Given the description of an element on the screen output the (x, y) to click on. 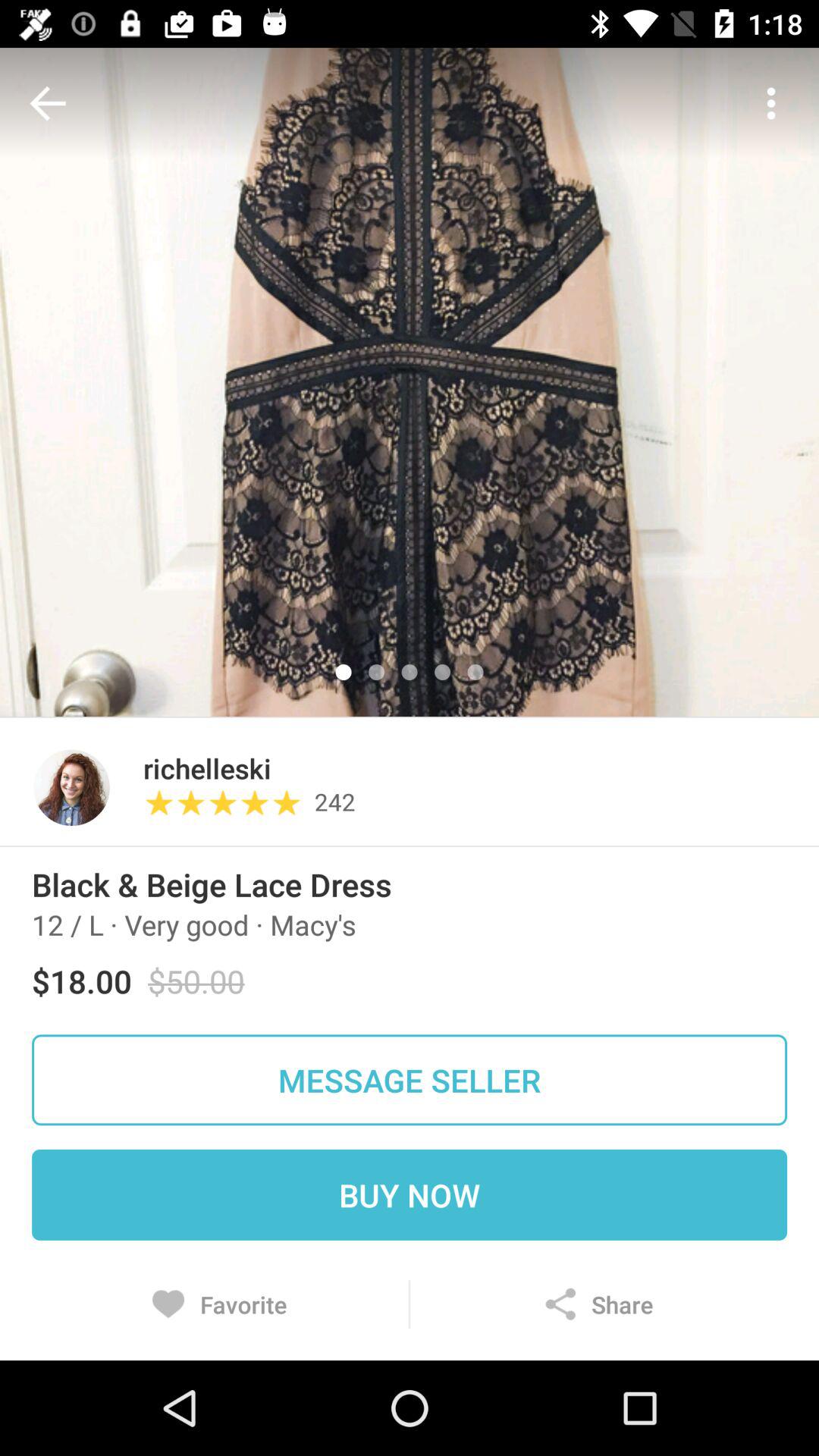
open item above buy now (409, 1079)
